Given the description of an element on the screen output the (x, y) to click on. 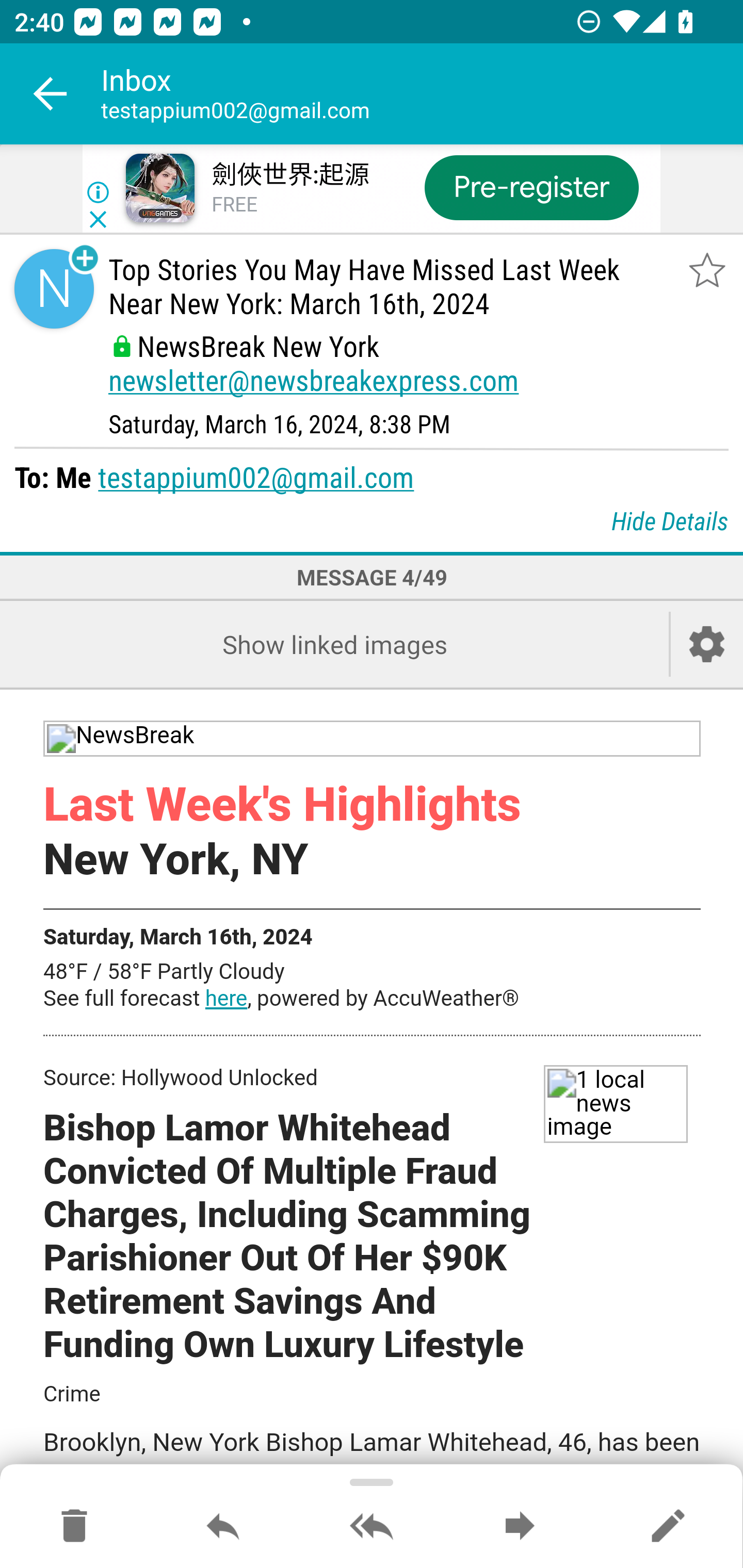
Navigate up (50, 93)
Inbox testappium002@gmail.com (422, 93)
Pre-register (530, 187)
劍俠世界:起源 (289, 175)
FREE (234, 204)
Sender contact button (53, 289)
Show linked images (334, 643)
Account setup (706, 643)
here (225, 999)
Move to Deleted (74, 1527)
Reply (222, 1527)
Reply all (371, 1527)
Forward (519, 1527)
Reply as new (667, 1527)
